Given the description of an element on the screen output the (x, y) to click on. 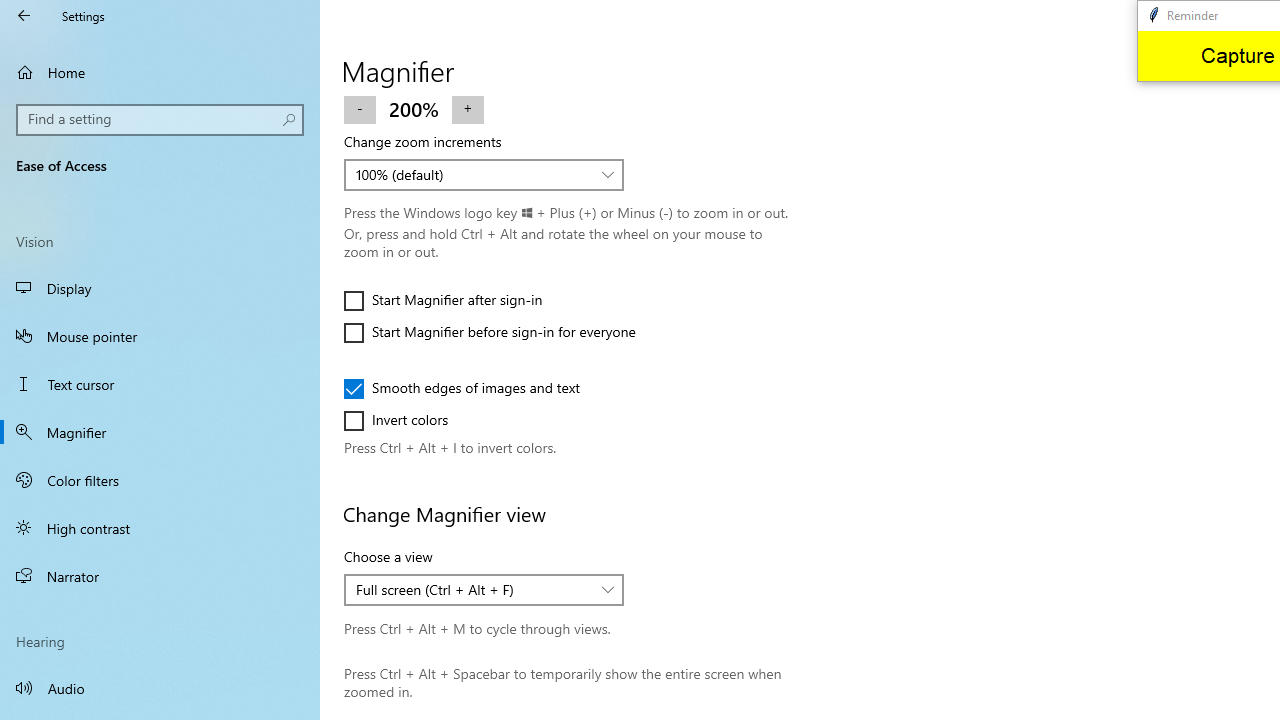
Zoom out (360, 107)
Search box, Find a setting (160, 119)
Back (24, 15)
Invert colors (403, 420)
Narrator (160, 575)
Home (160, 71)
Make everything on my computer bigger (470, 23)
Start Magnifier before sign-in for everyone (490, 332)
Audio (160, 687)
Text cursor (160, 384)
High contrast (160, 527)
Choose a view (484, 589)
Mouse pointer (160, 335)
Smooth edges of images and text (462, 388)
Magnifier (160, 431)
